Given the description of an element on the screen output the (x, y) to click on. 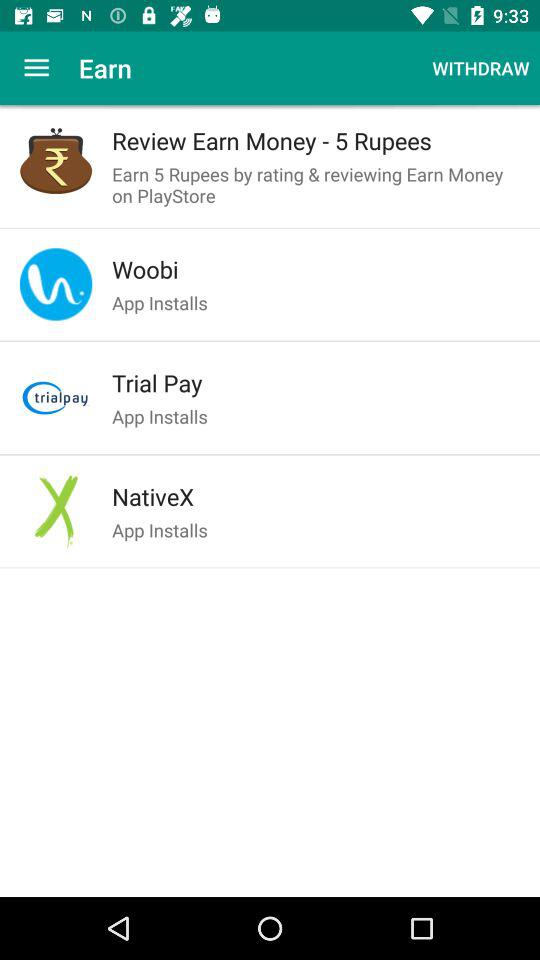
click the icon below app installs icon (316, 496)
